Given the description of an element on the screen output the (x, y) to click on. 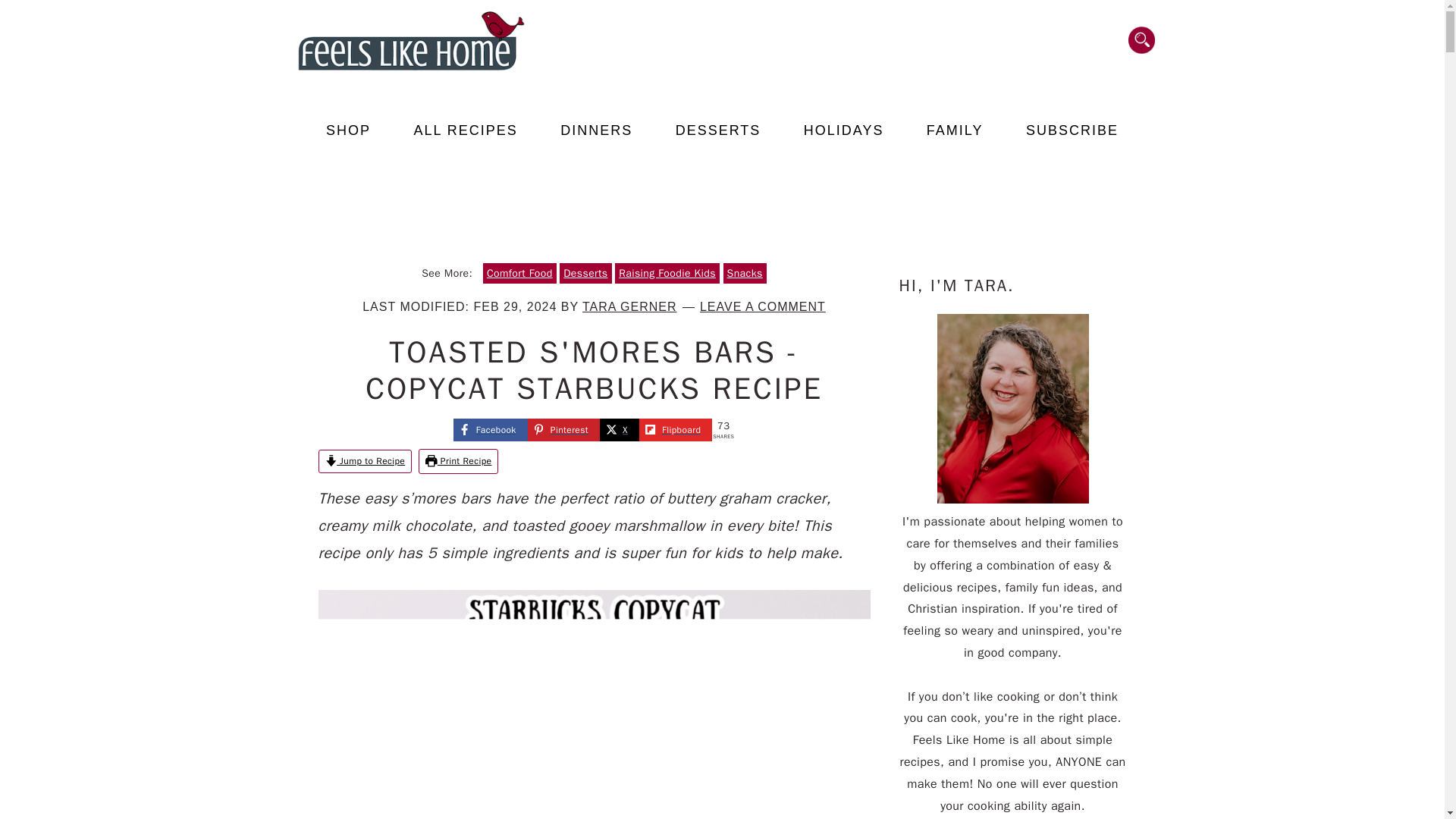
ALL RECIPES (464, 130)
SHOP (348, 130)
